Given the description of an element on the screen output the (x, y) to click on. 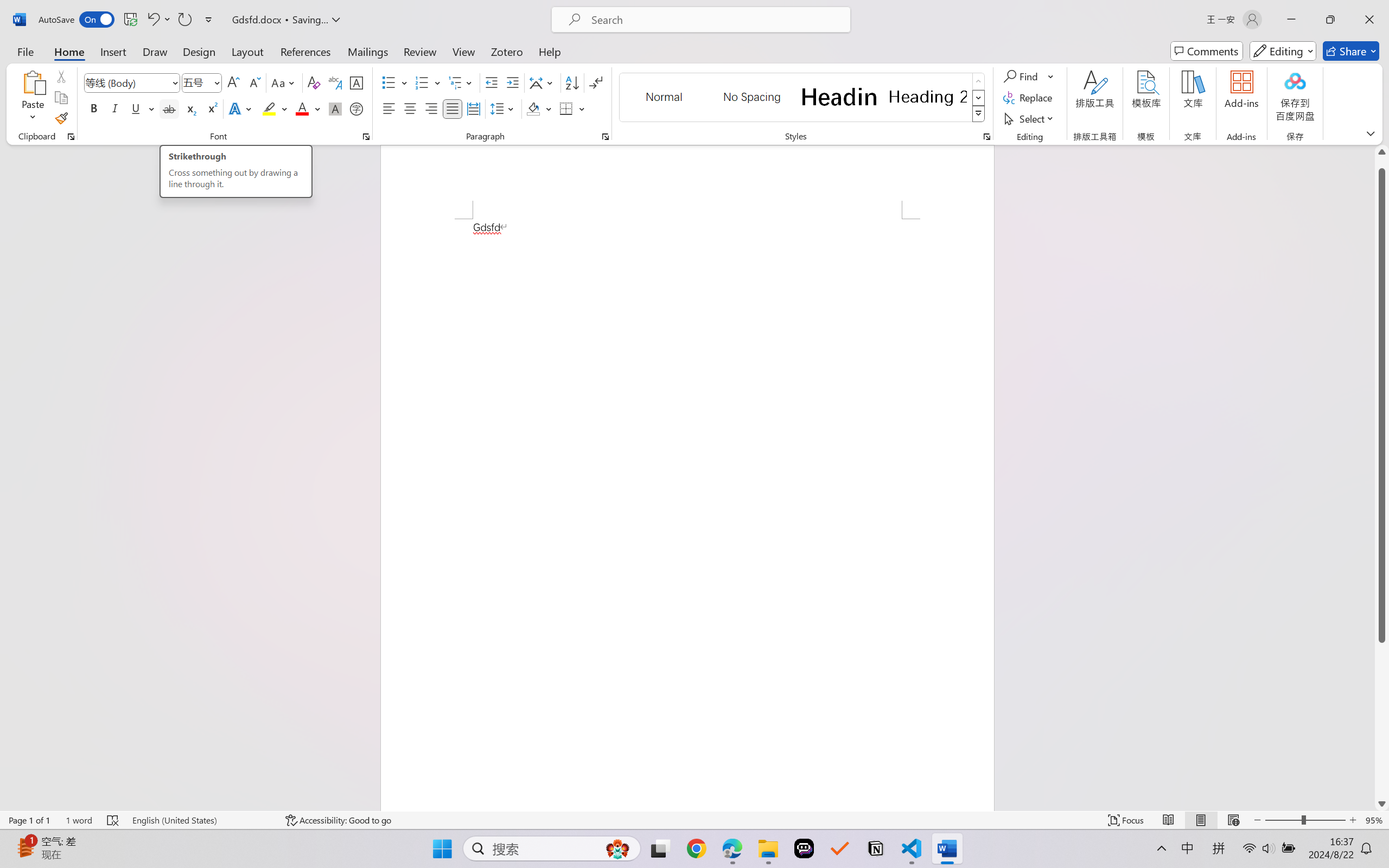
Show/Hide Editing Marks (595, 82)
Copy (60, 97)
Align Right (431, 108)
